Given the description of an element on the screen output the (x, y) to click on. 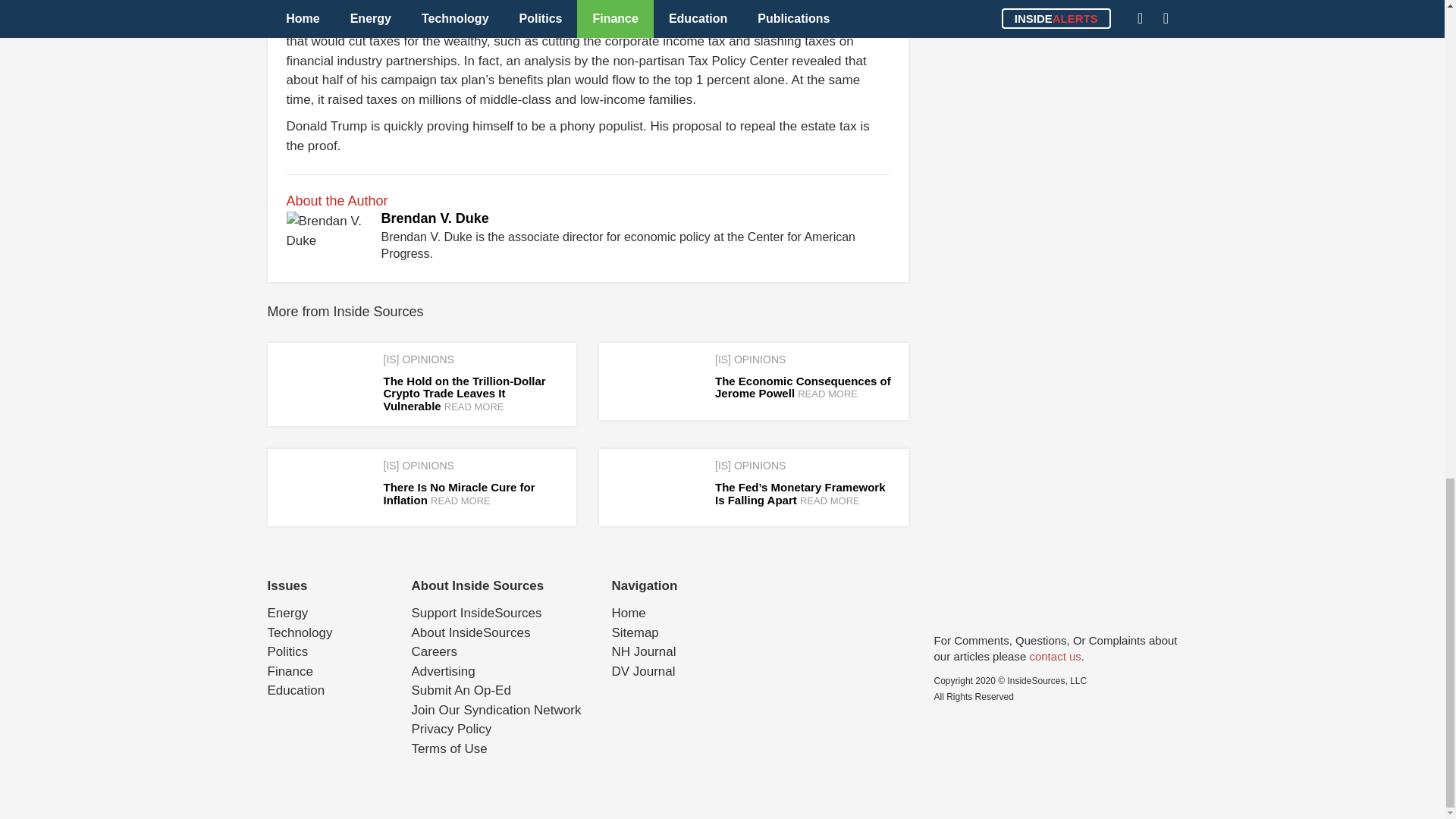
The Economic Consequences of Jerome Powell READ MORE (802, 387)
Brendan V. Duke (433, 218)
There Is No Miracle Cure for Inflation READ MORE (459, 493)
Brendan V. Duke (433, 218)
